Given the description of an element on the screen output the (x, y) to click on. 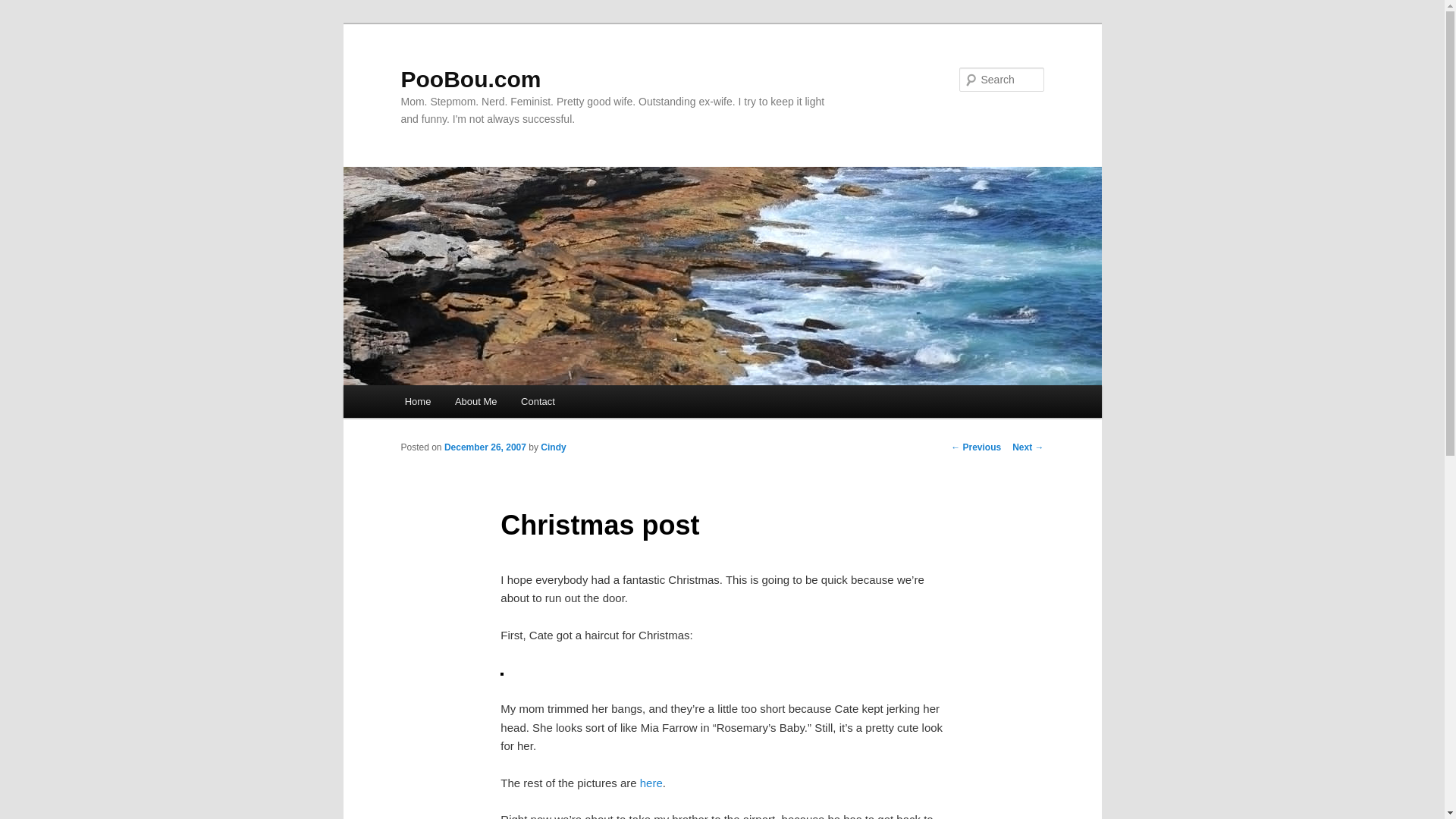
Home (417, 400)
About Me (475, 400)
December 26, 2007 (484, 447)
Cindy (553, 447)
1:36 pm (484, 447)
Contact (537, 400)
Search (24, 8)
PooBou.com (470, 78)
here (651, 782)
